Given the description of an element on the screen output the (x, y) to click on. 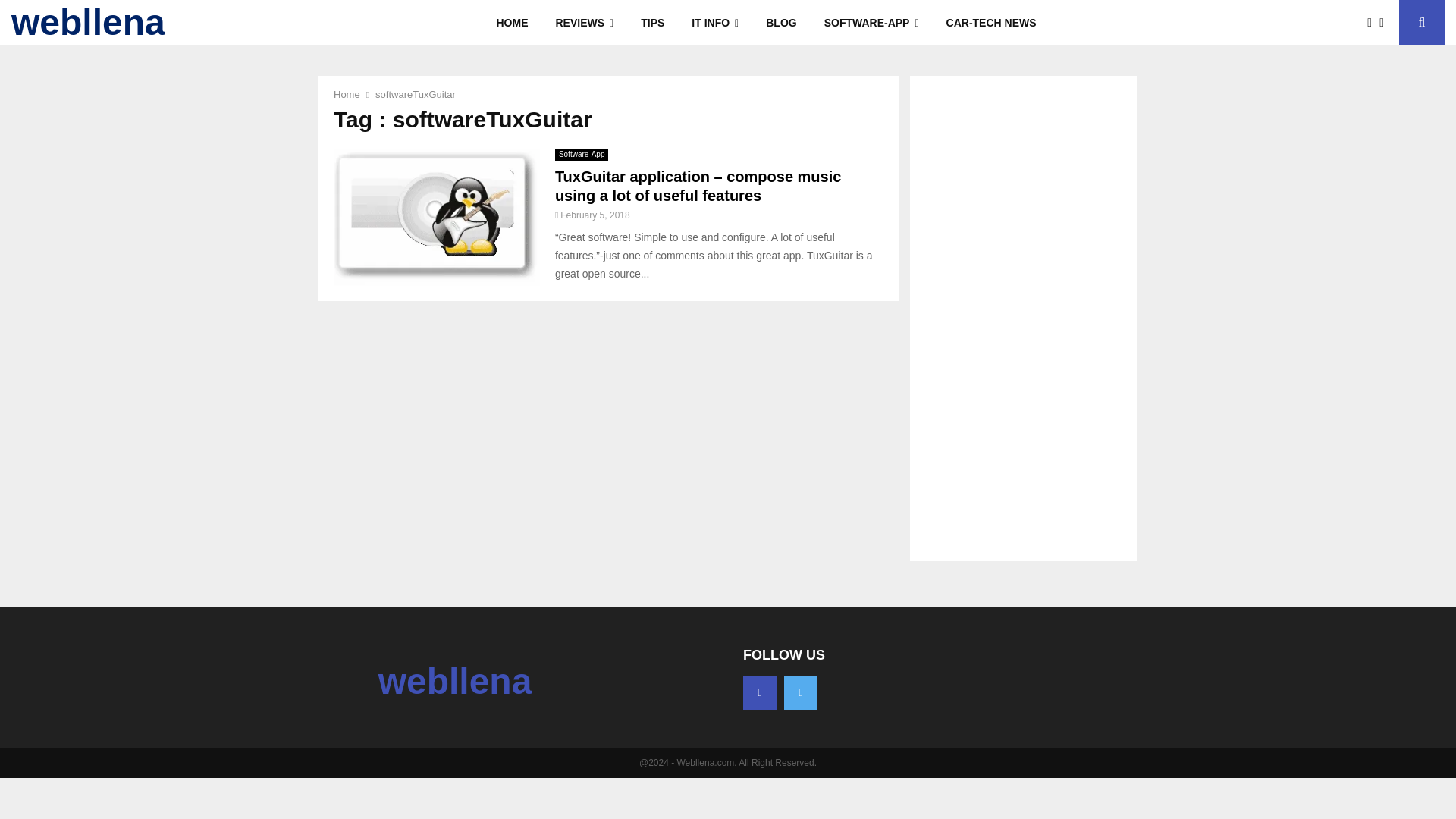
HOME (511, 22)
CAR-TECH NEWS (991, 22)
Home (346, 93)
BLOG (780, 22)
webllena (455, 680)
webllena (88, 22)
REVIEWS (584, 22)
SOFTWARE-APP (871, 22)
IT INFO (715, 22)
Facebook (759, 693)
Software-App (581, 154)
Twitter (800, 693)
February 5, 2018 (594, 214)
TIPS (652, 22)
softwareTuxGuitar (415, 93)
